Given the description of an element on the screen output the (x, y) to click on. 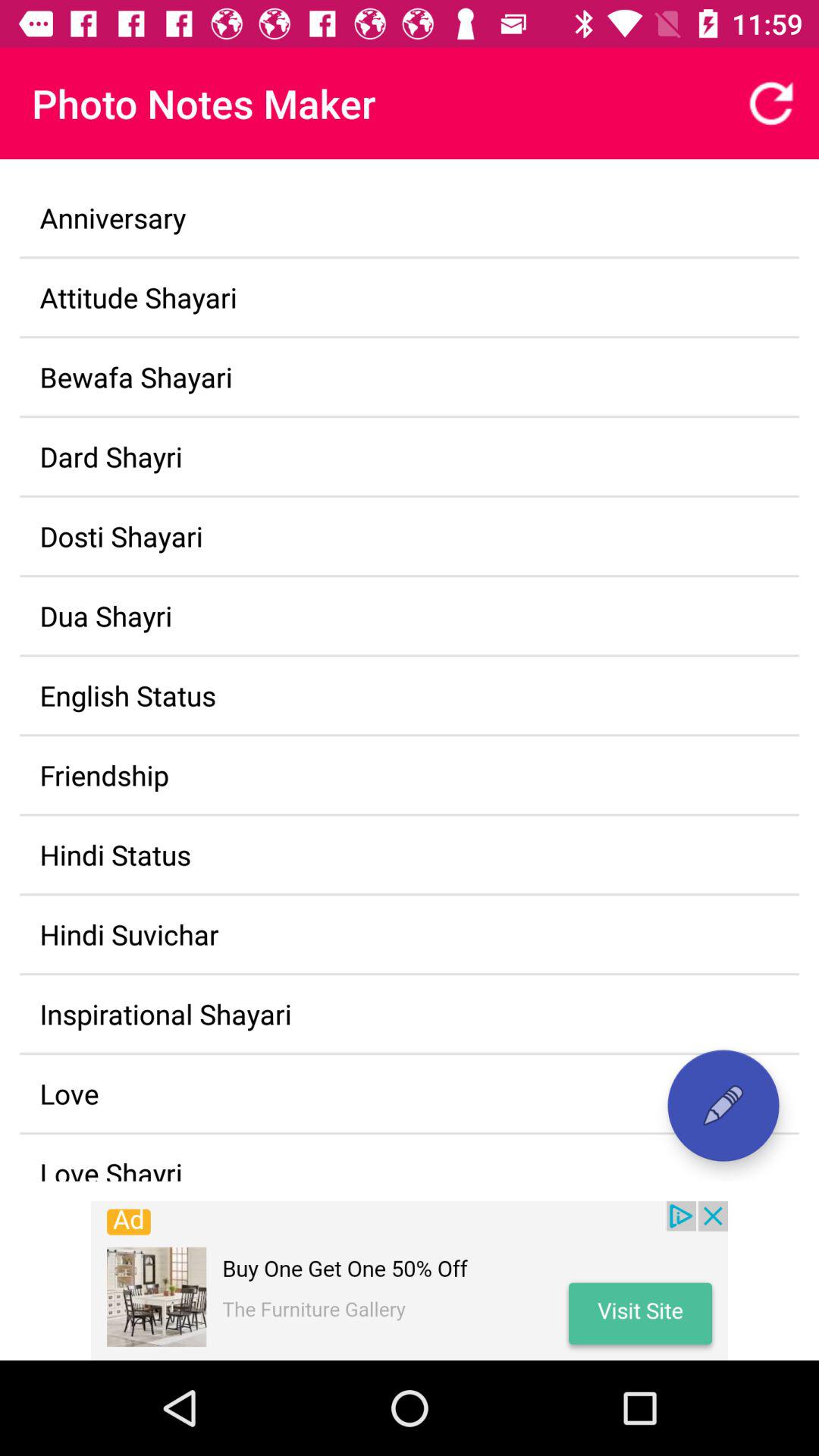
the furniture gallery advertisement (409, 1280)
